Given the description of an element on the screen output the (x, y) to click on. 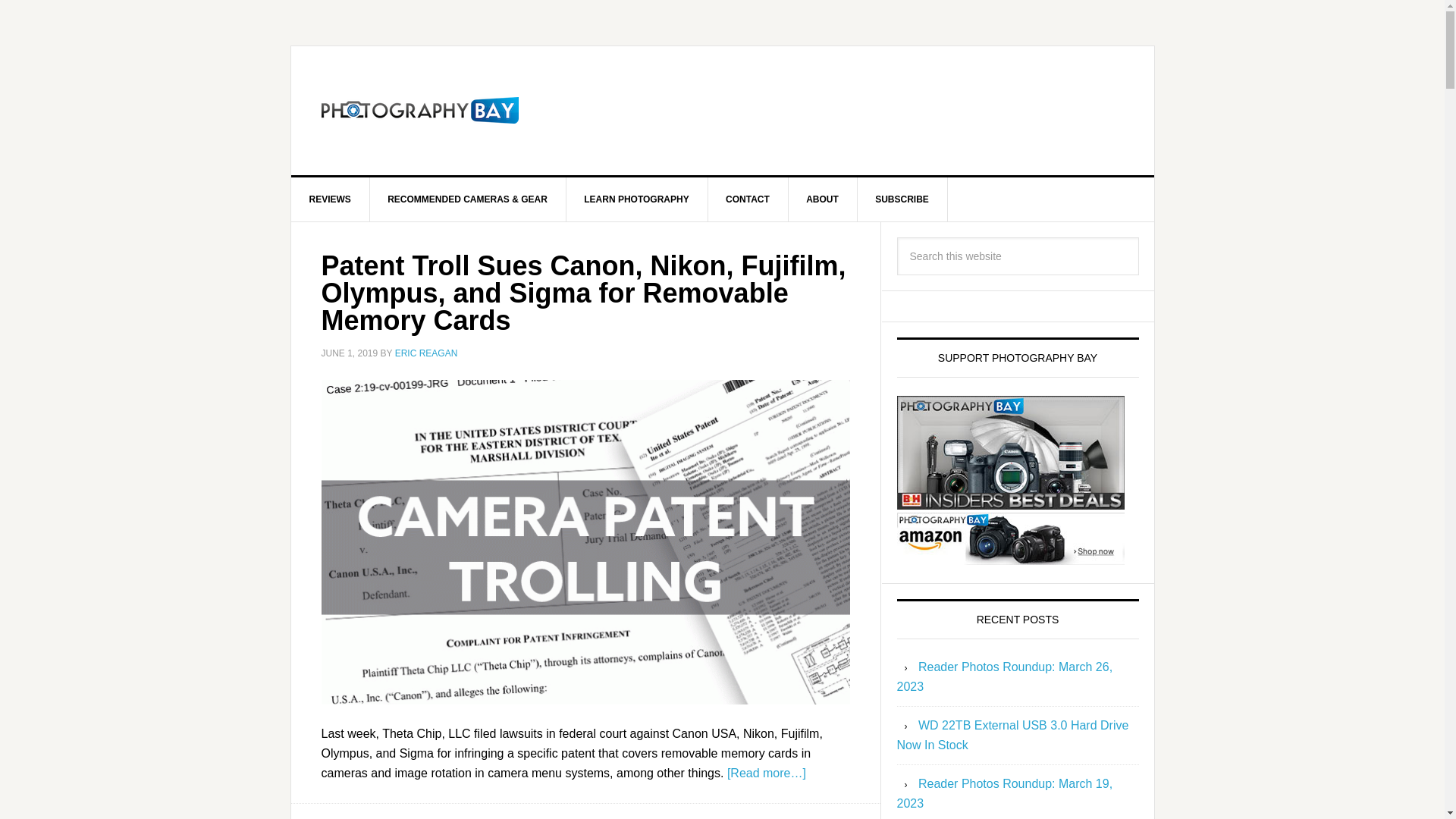
LEARN PHOTOGRAPHY (636, 199)
SUBSCRIBE (902, 199)
PHOTOGRAPHY BAY (419, 110)
REVIEWS (330, 199)
ERIC REAGAN (426, 353)
ABOUT (822, 199)
CONTACT (748, 199)
